Given the description of an element on the screen output the (x, y) to click on. 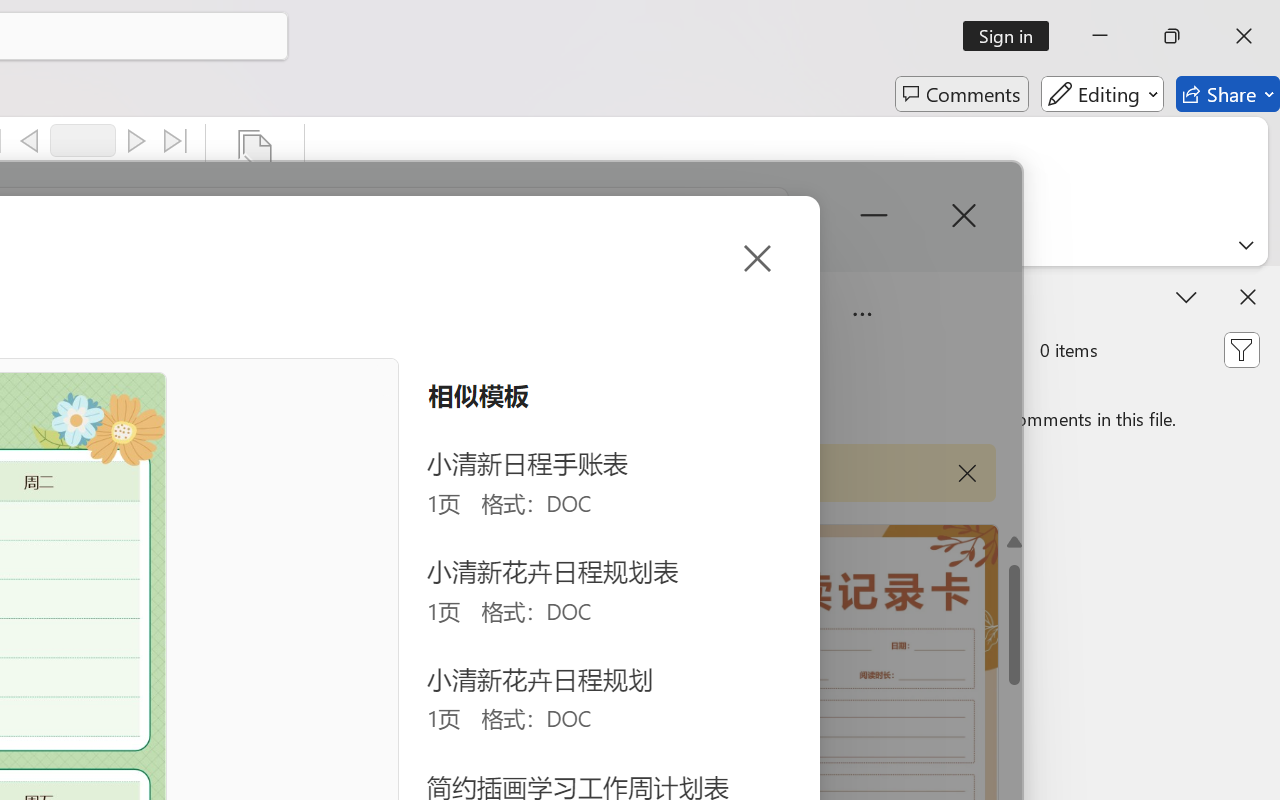
Sign in - Google Accounts (459, 22)
Translate this page (1139, 69)
Meld aan (1188, 132)
